Given the description of an element on the screen output the (x, y) to click on. 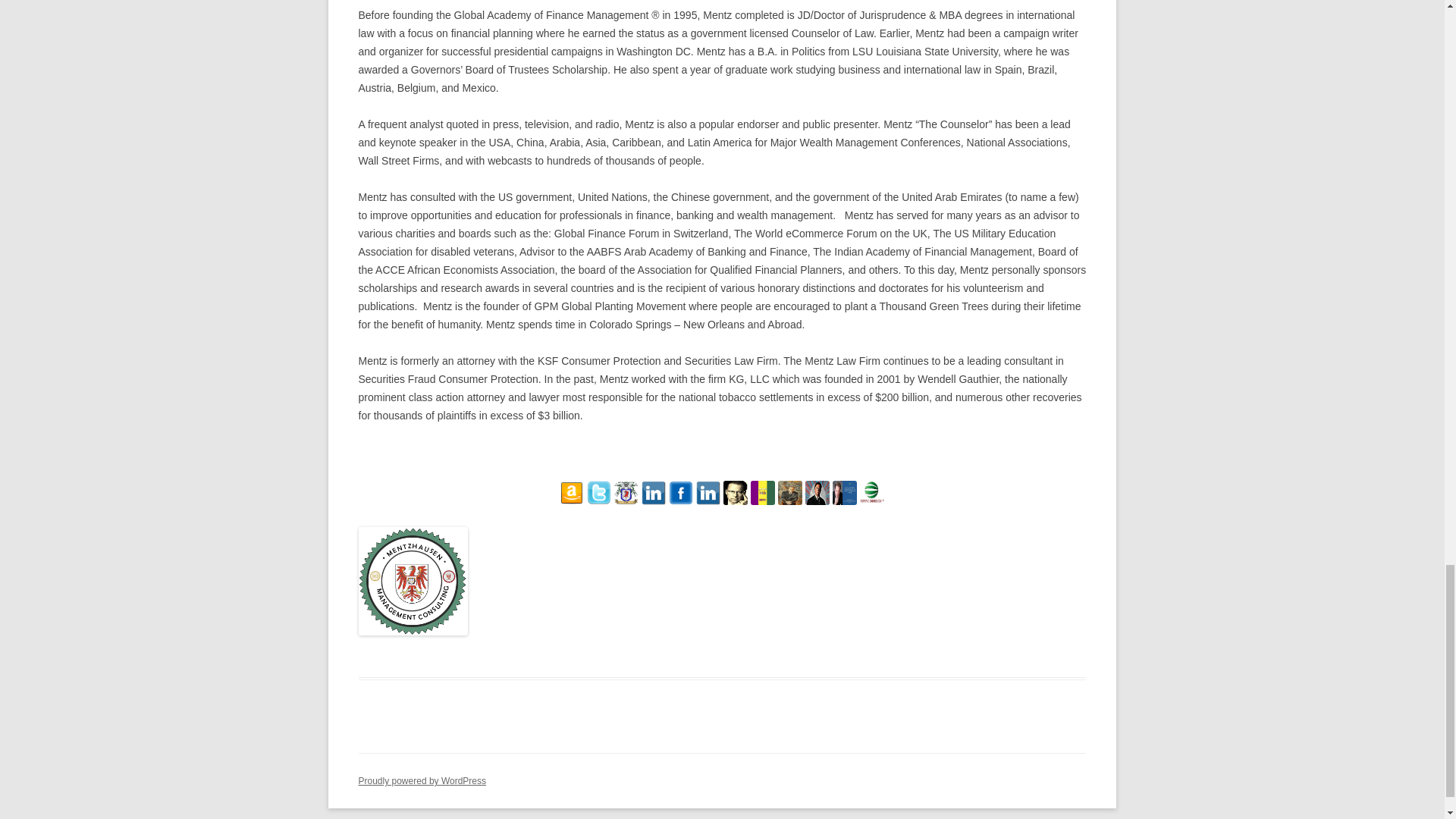
O-Books (626, 502)
Academia (735, 502)
O-Books (626, 492)
Linkedin (653, 502)
Facebook (680, 502)
Linkedin EU (707, 492)
Linkedin (653, 492)
Proudly powered by WordPress (422, 780)
Twitter (598, 502)
George Mentz (762, 502)
Linkedin EU (708, 502)
Amazon Author (571, 502)
Twitter (598, 492)
Academia (735, 492)
Amazon Author (571, 492)
